Given the description of an element on the screen output the (x, y) to click on. 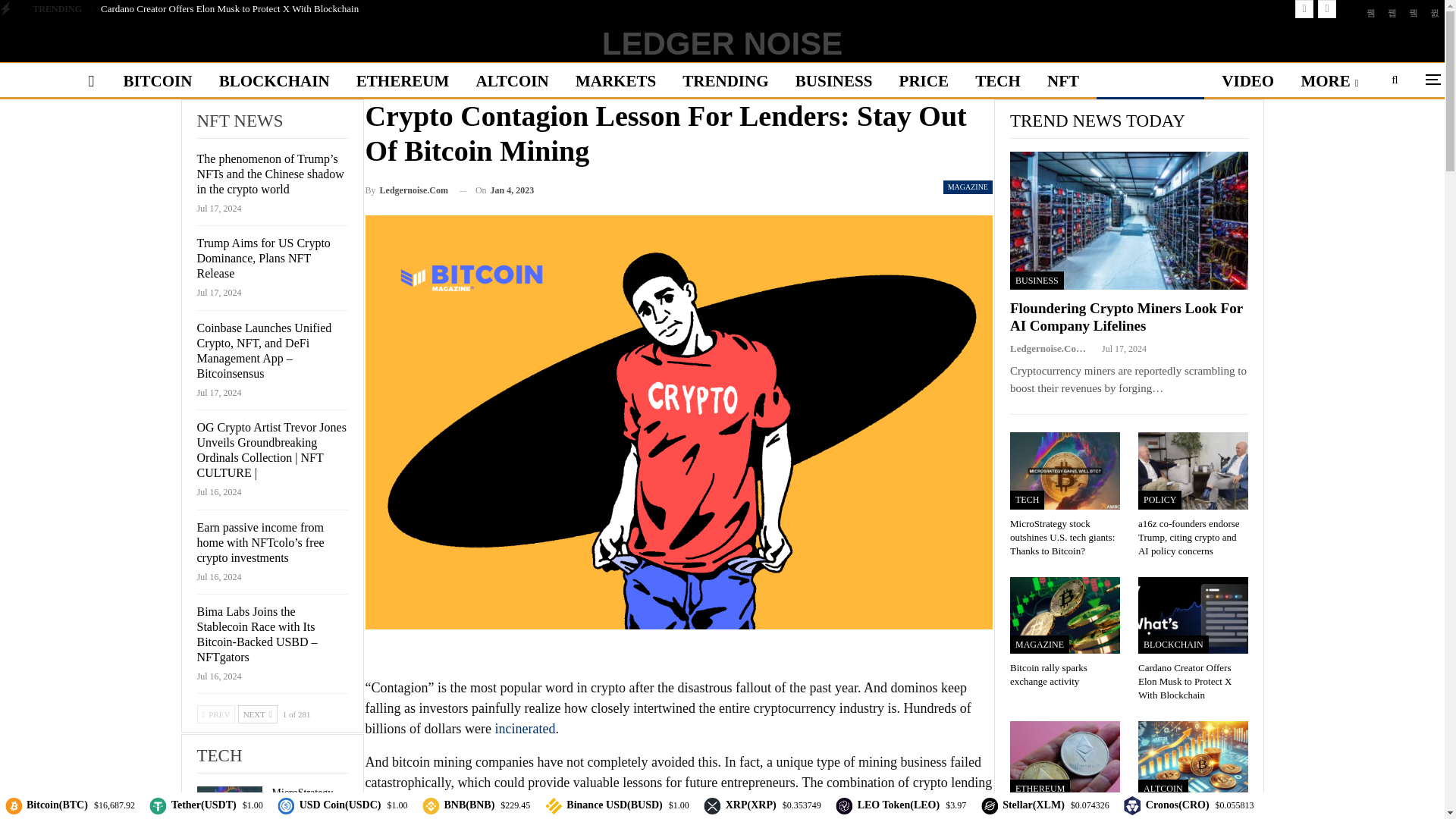
BLOCKCHAIN (274, 81)
TRENDING (724, 81)
ETHEREUM (402, 81)
MARKETS (615, 81)
Browse Author Articles (406, 189)
BITCOIN (156, 81)
LEDGER NOISE (722, 43)
ALTCOIN (512, 81)
